Given the description of an element on the screen output the (x, y) to click on. 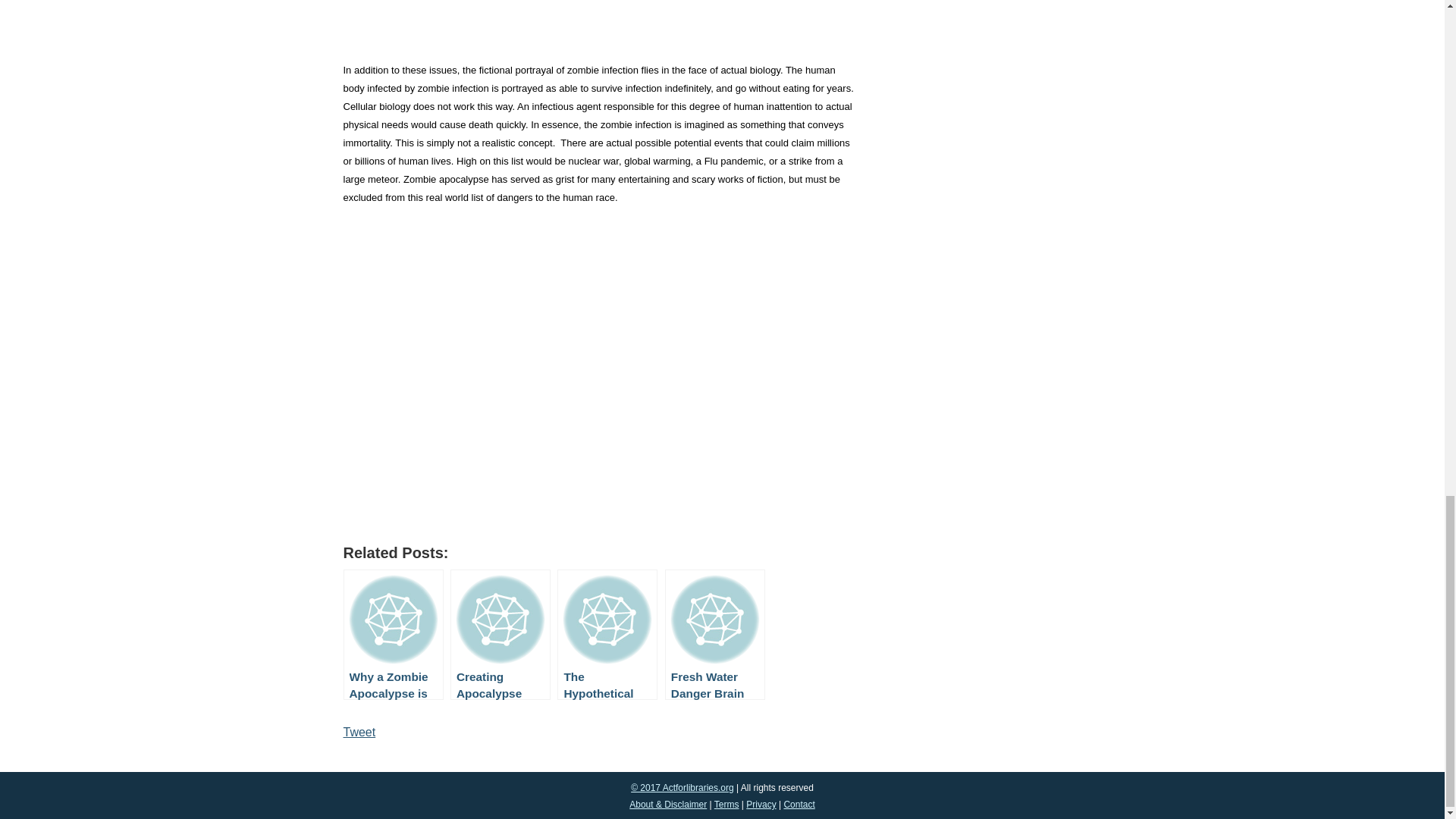
Terms (726, 804)
Tweet (358, 731)
Privacy (760, 804)
Contact (798, 804)
